Given the description of an element on the screen output the (x, y) to click on. 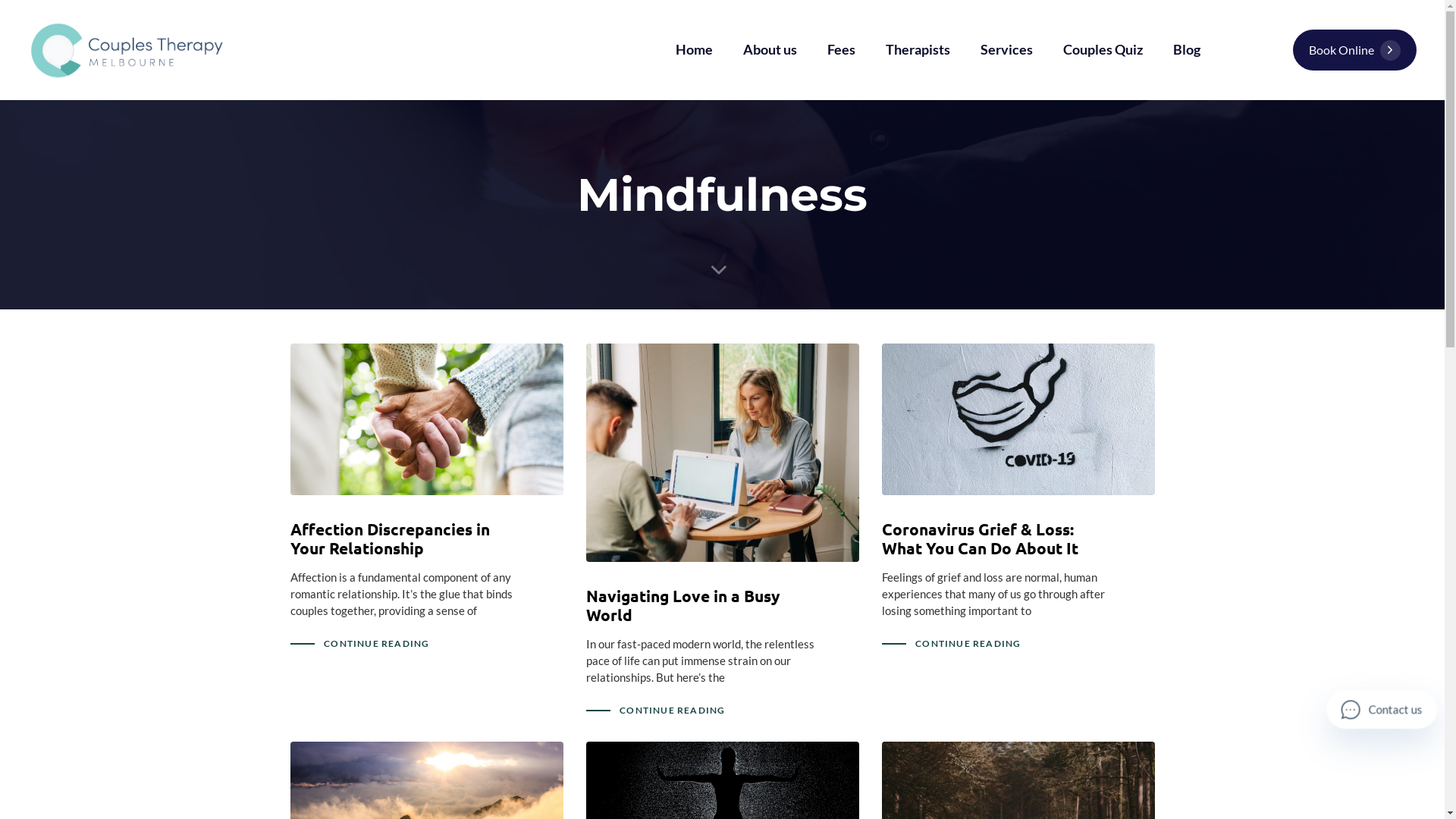
Services Element type: text (587, 657)
Couples Quiz Element type: text (587, 683)
CONTINUE READING Element type: text (967, 643)
Home Element type: text (694, 50)
Couples Quiz Element type: text (1102, 50)
CONTINUE READING Element type: text (376, 643)
Fees Element type: text (587, 606)
Home Element type: text (587, 554)
B
o
o
k
O
n
l
i
n
e Element type: text (1354, 49)
Blog Element type: text (1186, 50)
About us Element type: text (587, 580)
Therapists Element type: text (917, 50)
CONTINUE READING Element type: text (672, 710)
Fees Element type: text (841, 50)
Coronavirus Grief & Loss: What You Can Do About It Element type: text (979, 538)
C
o
n
t
a
c
t
u
s Element type: text (1382, 709)
Services Element type: text (1006, 50)
Blog Element type: text (587, 709)
Therapists Element type: text (587, 632)
Affection Discrepancies in Your Relationship Element type: text (389, 538)
Navigating Love in a Busy World Element type: text (681, 604)
info@couplesmelbourne.com Element type: text (807, 682)
About us Element type: text (770, 50)
